Given the description of an element on the screen output the (x, y) to click on. 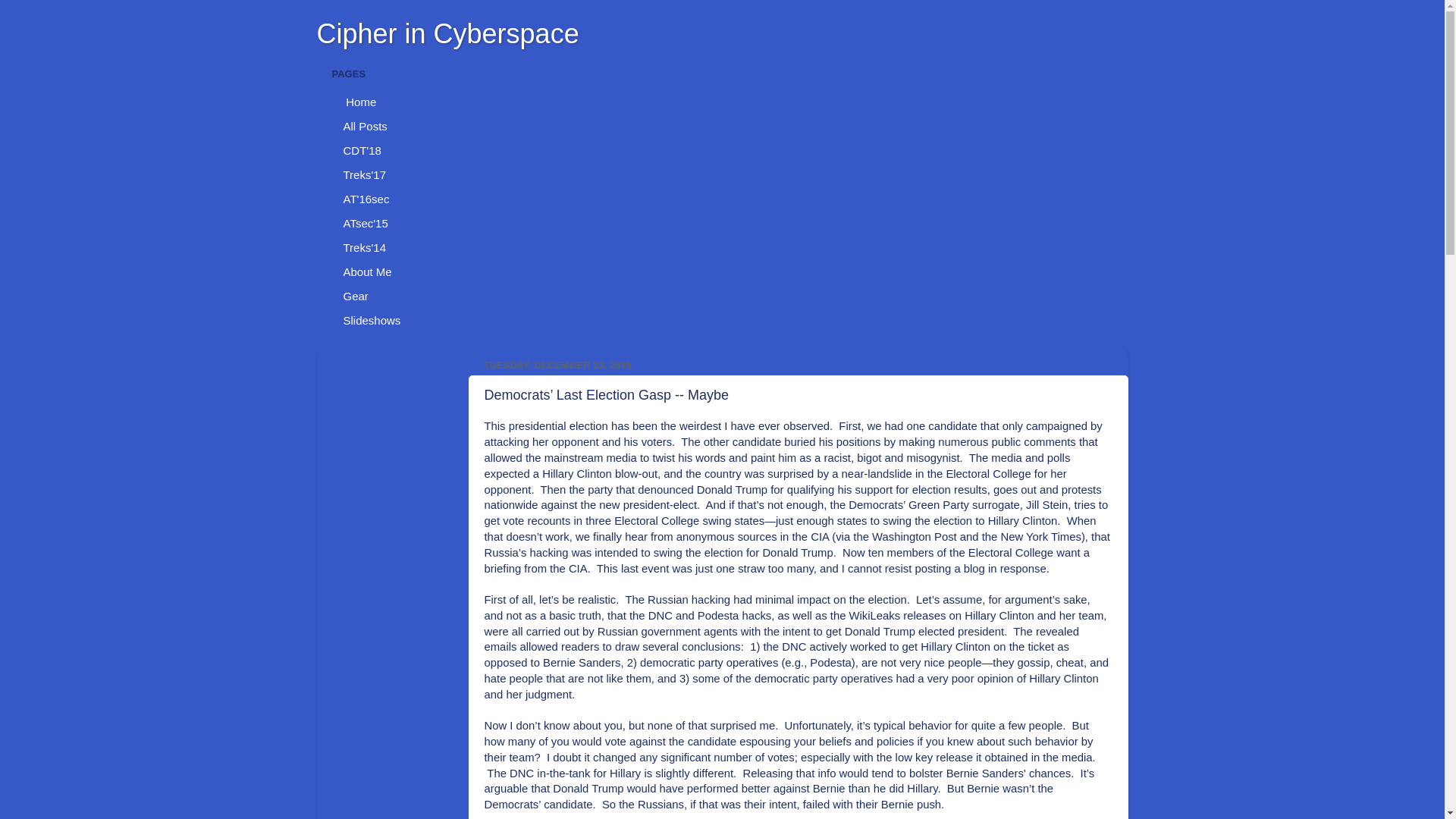
About Me (367, 272)
AT'16sec (366, 199)
Gear (355, 296)
Cipher in Cyberspace (448, 33)
Slideshows (372, 320)
ATsec'15 (365, 223)
CDT'18 (362, 150)
All Posts (364, 126)
Treks'14 (364, 247)
Home (359, 102)
Treks'17 (364, 174)
